Given the description of an element on the screen output the (x, y) to click on. 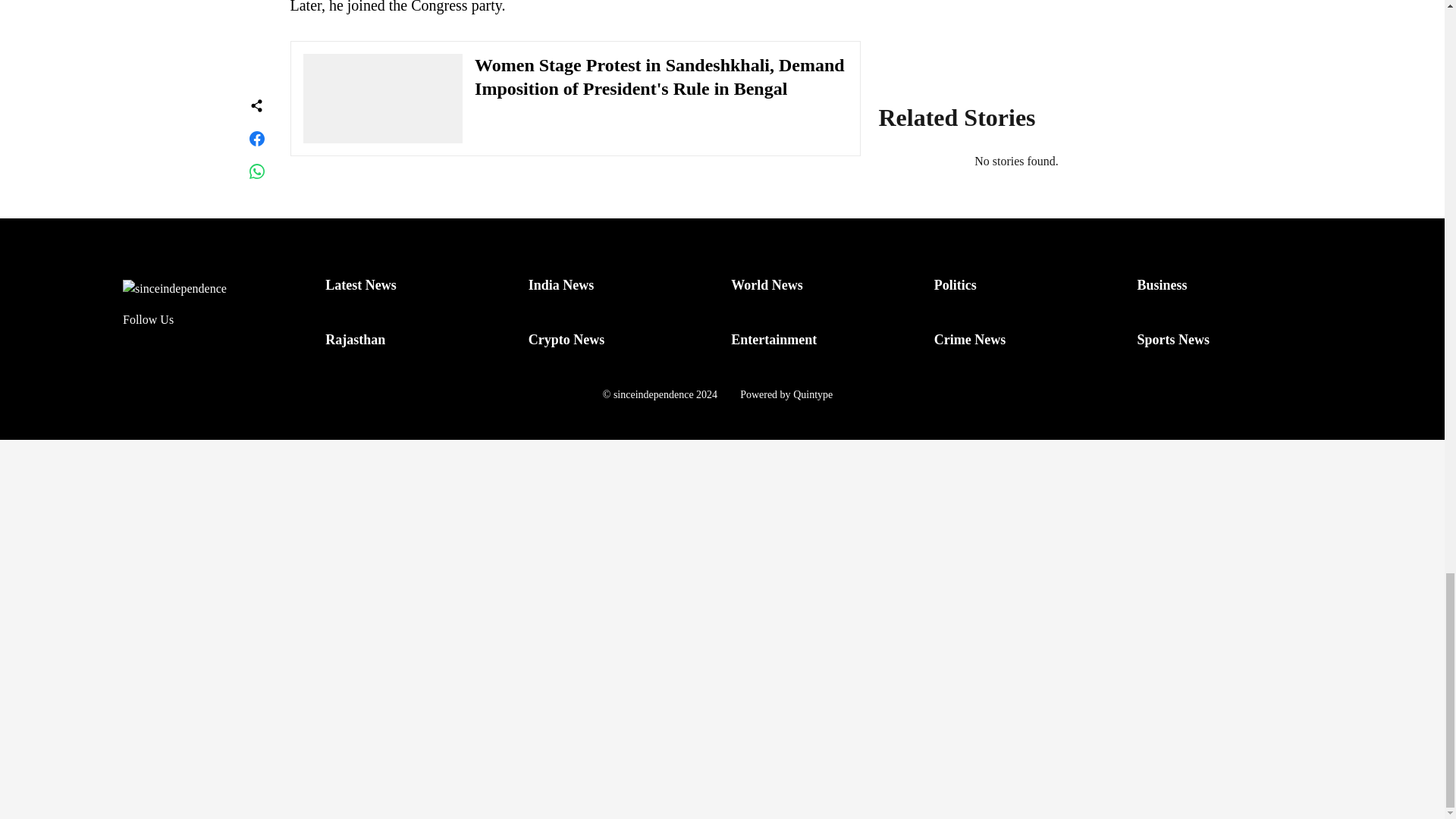
World News (766, 284)
Politics (955, 284)
Business (1161, 284)
Latest News (360, 284)
India News (561, 284)
